Given the description of an element on the screen output the (x, y) to click on. 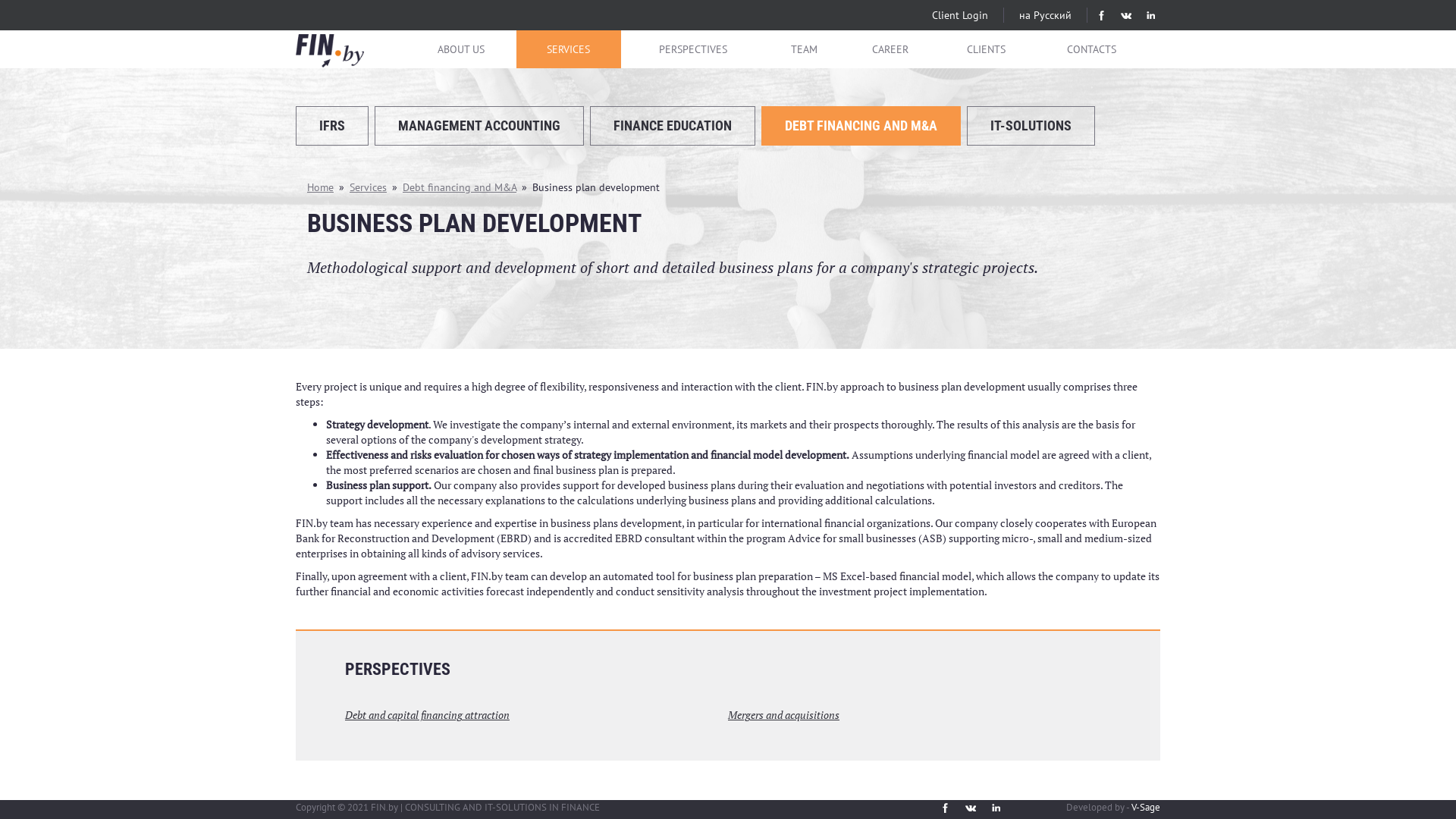
ABOUT US Element type: text (460, 49)
Client Login Element type: text (959, 14)
V-Sage Element type: text (1145, 806)
SERVICES Element type: text (568, 49)
IFRS Element type: text (331, 125)
TEAM Element type: text (804, 49)
Skip to main content Element type: text (0, 0)
CONTACTS Element type: text (1091, 49)
CLIENTS Element type: text (985, 49)
CAREER Element type: text (890, 49)
FINANCE EDUCATION Element type: text (672, 125)
Home Element type: text (320, 187)
Services Element type: text (367, 187)
Debt and capital financing attraction Element type: text (427, 714)
PERSPECTIVES Element type: text (693, 49)
Debt financing and M&A Element type: text (459, 187)
DEBT FINANCING AND M&A Element type: text (860, 125)
IT-SOLUTIONS Element type: text (1030, 125)
Mergers and acquisitions Element type: text (783, 714)
MANAGEMENT ACCOUNTING Element type: text (478, 125)
